Given the description of an element on the screen output the (x, y) to click on. 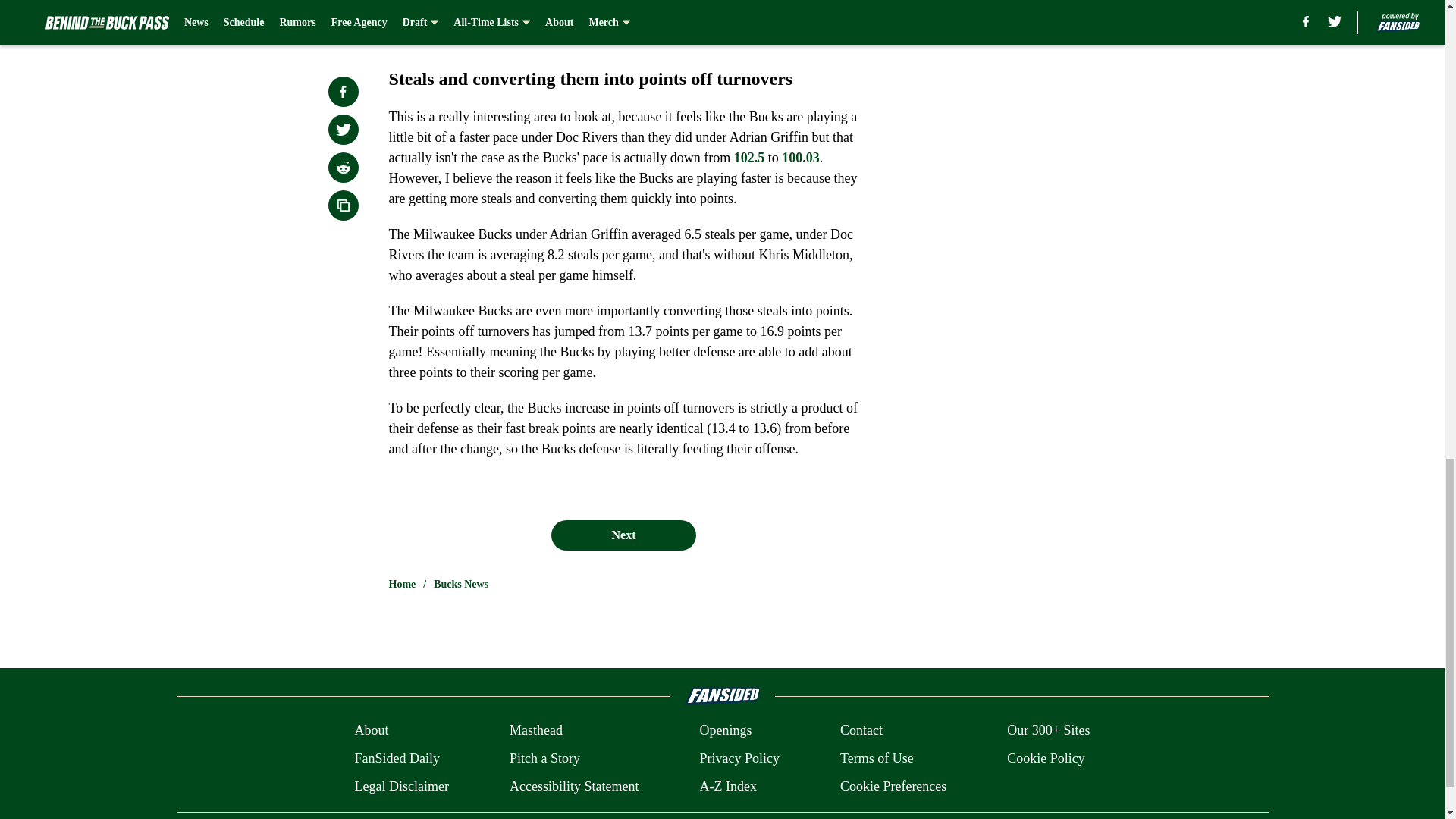
100.03 (800, 157)
102.5 (749, 157)
Next (622, 535)
Home (401, 584)
Bucks News (460, 584)
Openings (724, 730)
About (370, 730)
Masthead (535, 730)
